Given the description of an element on the screen output the (x, y) to click on. 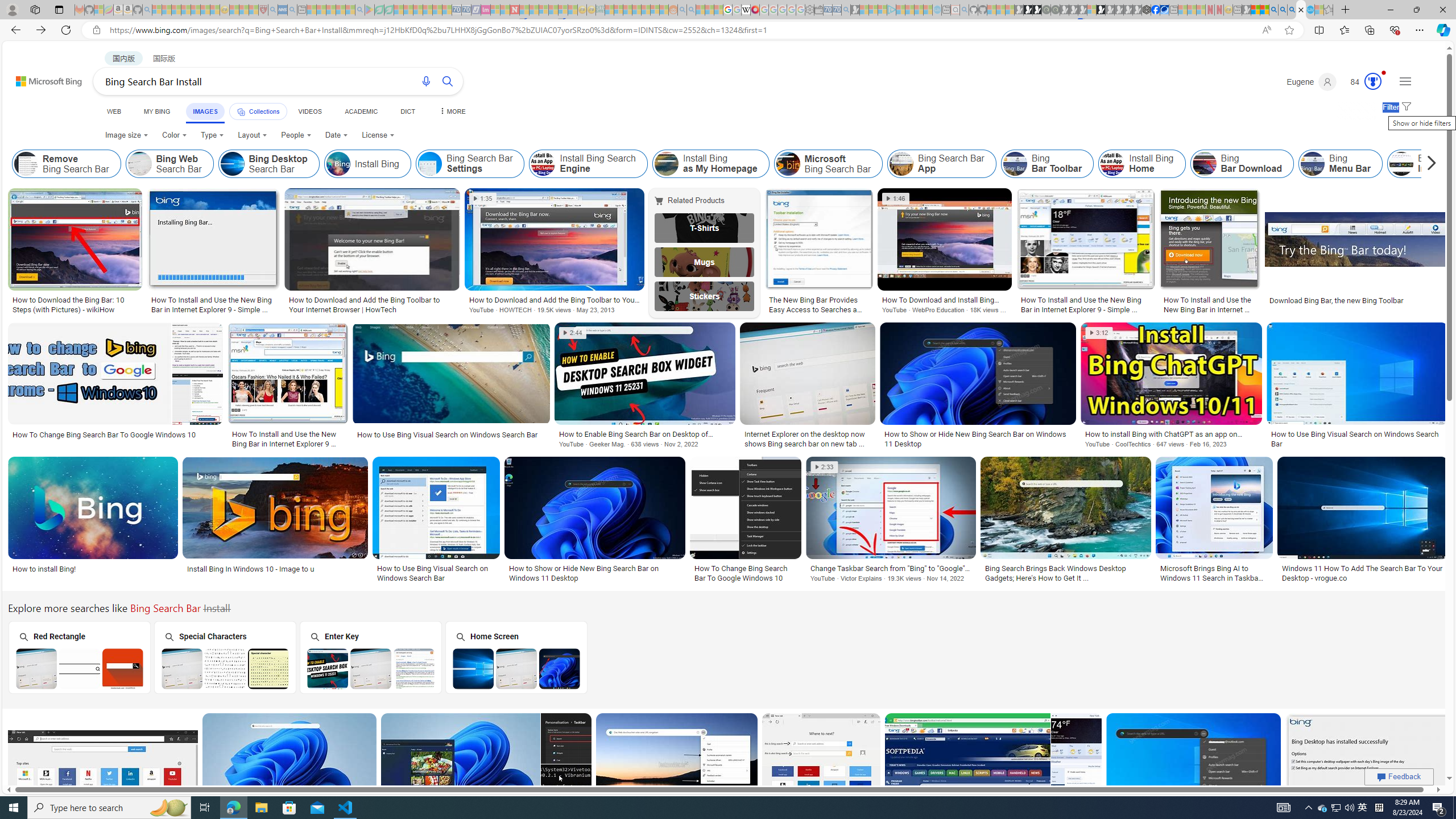
Bing Search Bar Settings (470, 163)
Date (336, 135)
License (377, 135)
Microsoft Bing Search Bar (828, 163)
License (378, 135)
Layout (253, 135)
Install Bing Home (1112, 163)
Bing Search Bar Install - Search Images (1300, 9)
